Given the description of an element on the screen output the (x, y) to click on. 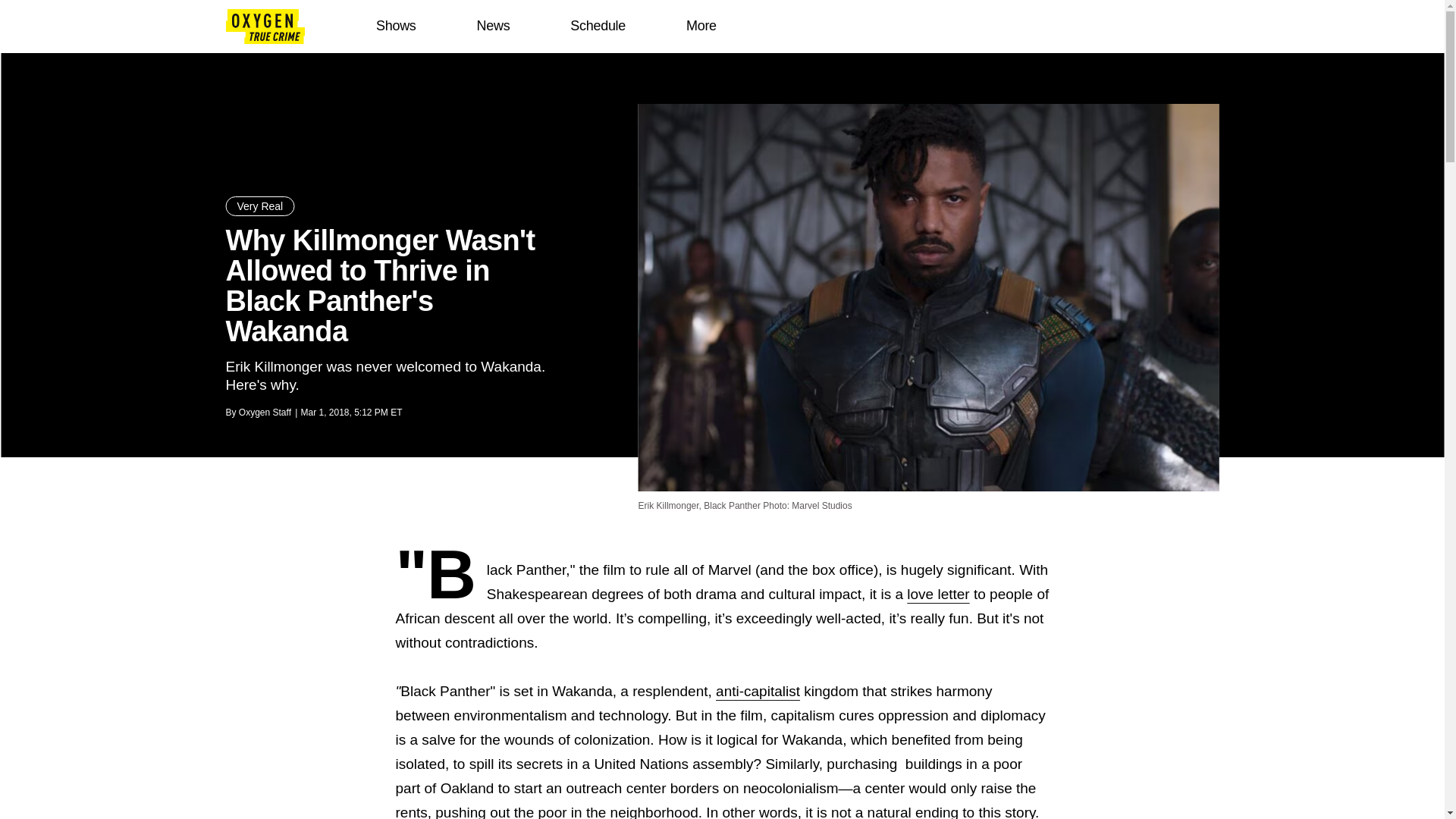
More (700, 26)
love letter (938, 593)
anti-capitalist (757, 691)
Very Real (260, 206)
Oxygen Staff (264, 412)
Schedule (598, 26)
News (492, 26)
Shows (395, 26)
